Given the description of an element on the screen output the (x, y) to click on. 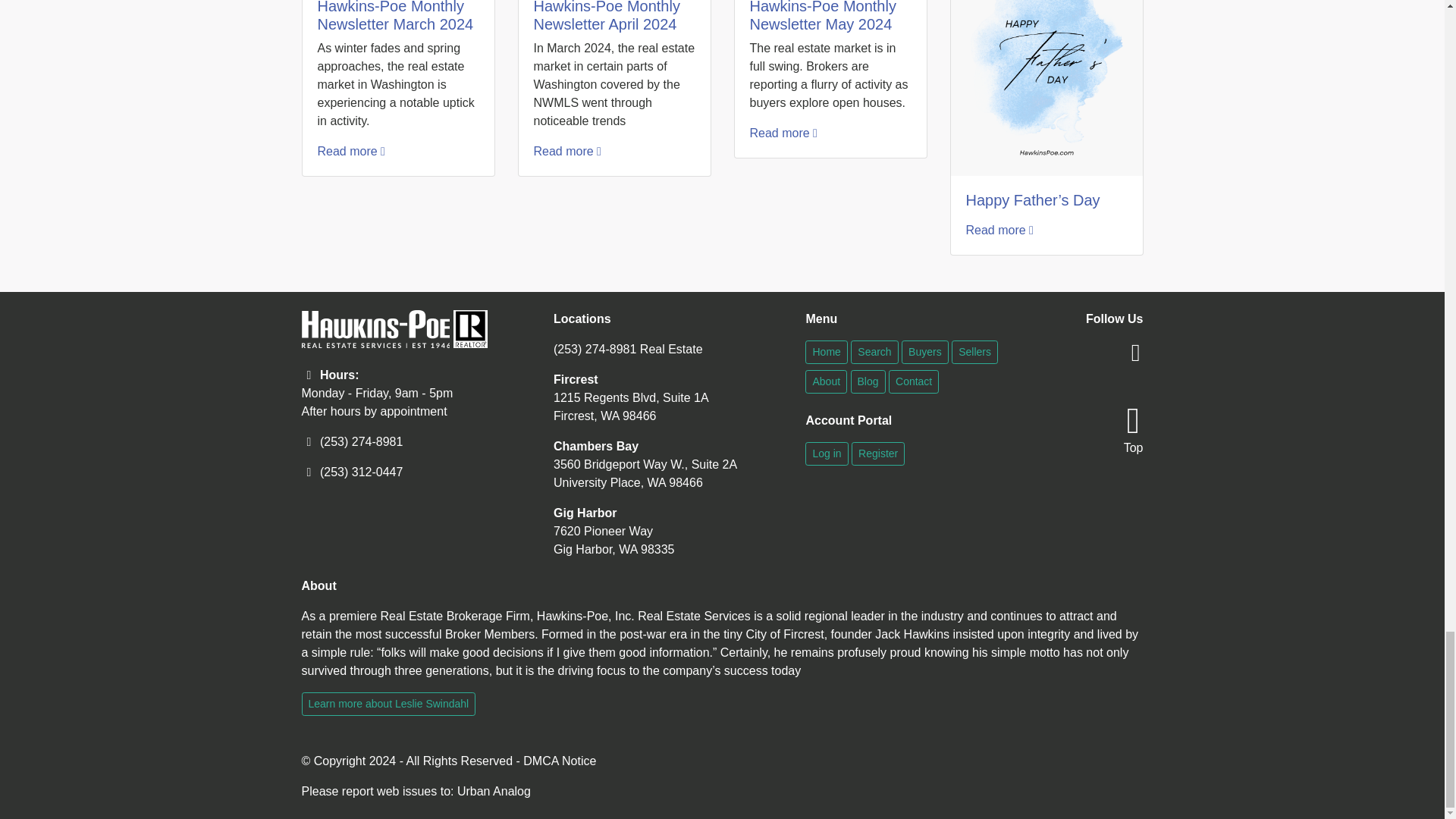
Search (874, 351)
Read more (350, 151)
Read more (782, 132)
Hawkins-Poe Monthly Newsletter April 2024 (606, 16)
Hawkins-Poe Monthly Newsletter March 2024 (395, 16)
Sellers (974, 351)
Read more (567, 151)
Home (826, 351)
Hawkins-Poe Monthly Newsletter May 2024 (822, 16)
Read more (999, 229)
